Given the description of an element on the screen output the (x, y) to click on. 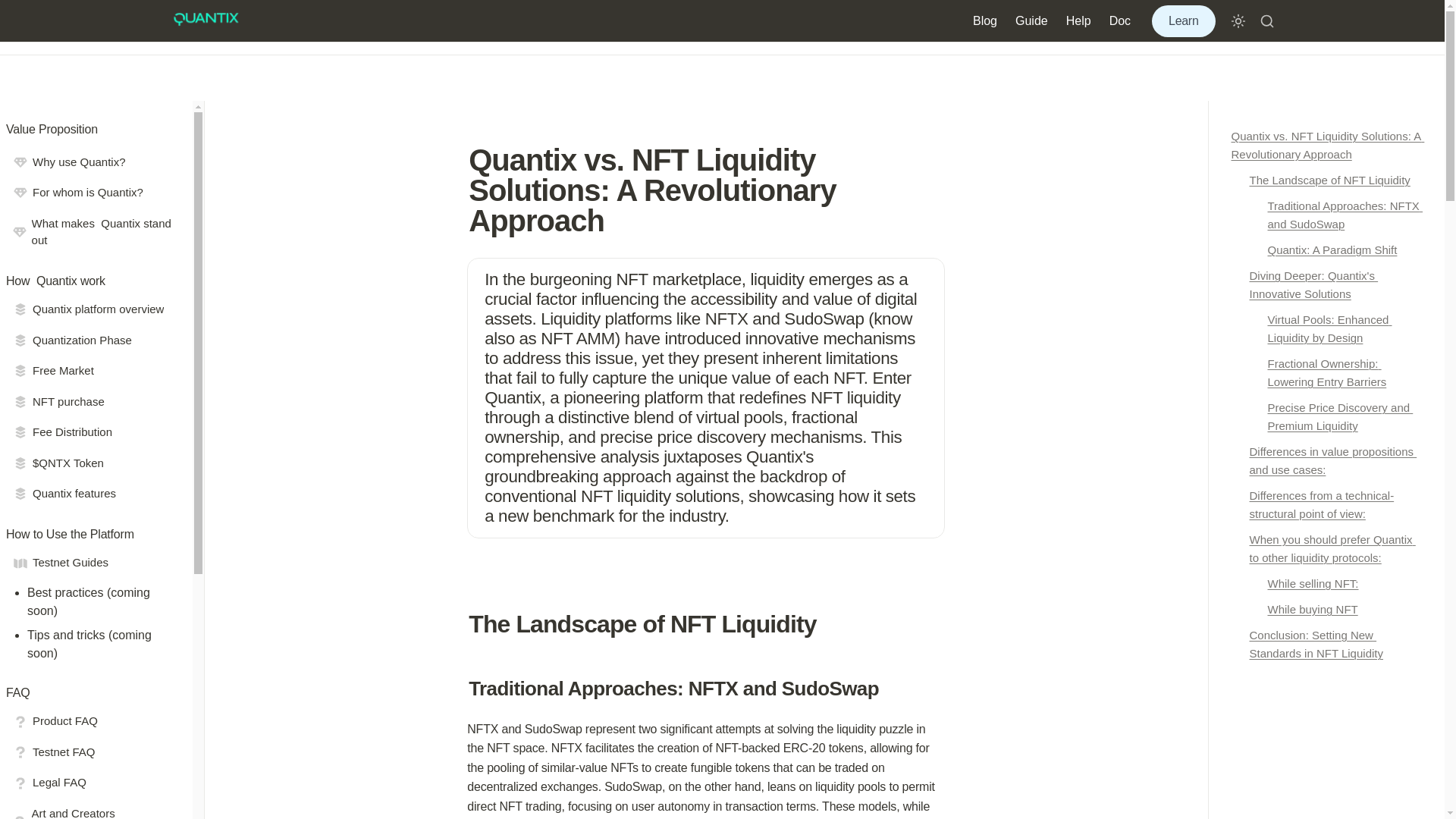
Differences in value propositions and use cases: (1326, 461)
Art and Creators Relationship FAQ (92, 809)
Precise Price Discovery and Premium Liquidity (1326, 416)
Quantization Phase (92, 340)
Fee Distribution (92, 432)
Guide (1031, 20)
Free Market (92, 370)
Differences from a technical-structural point of view: (1326, 504)
The Landscape of NFT Liquidity (1326, 180)
Quantix platform overview (92, 309)
When you should prefer Quantix to other liquidity protocols: (1326, 548)
Legal FAQ (92, 782)
Diving Deeper: Quantix's Innovative Solutions (1326, 284)
What makes  Quantix stand out (92, 232)
